Given the description of an element on the screen output the (x, y) to click on. 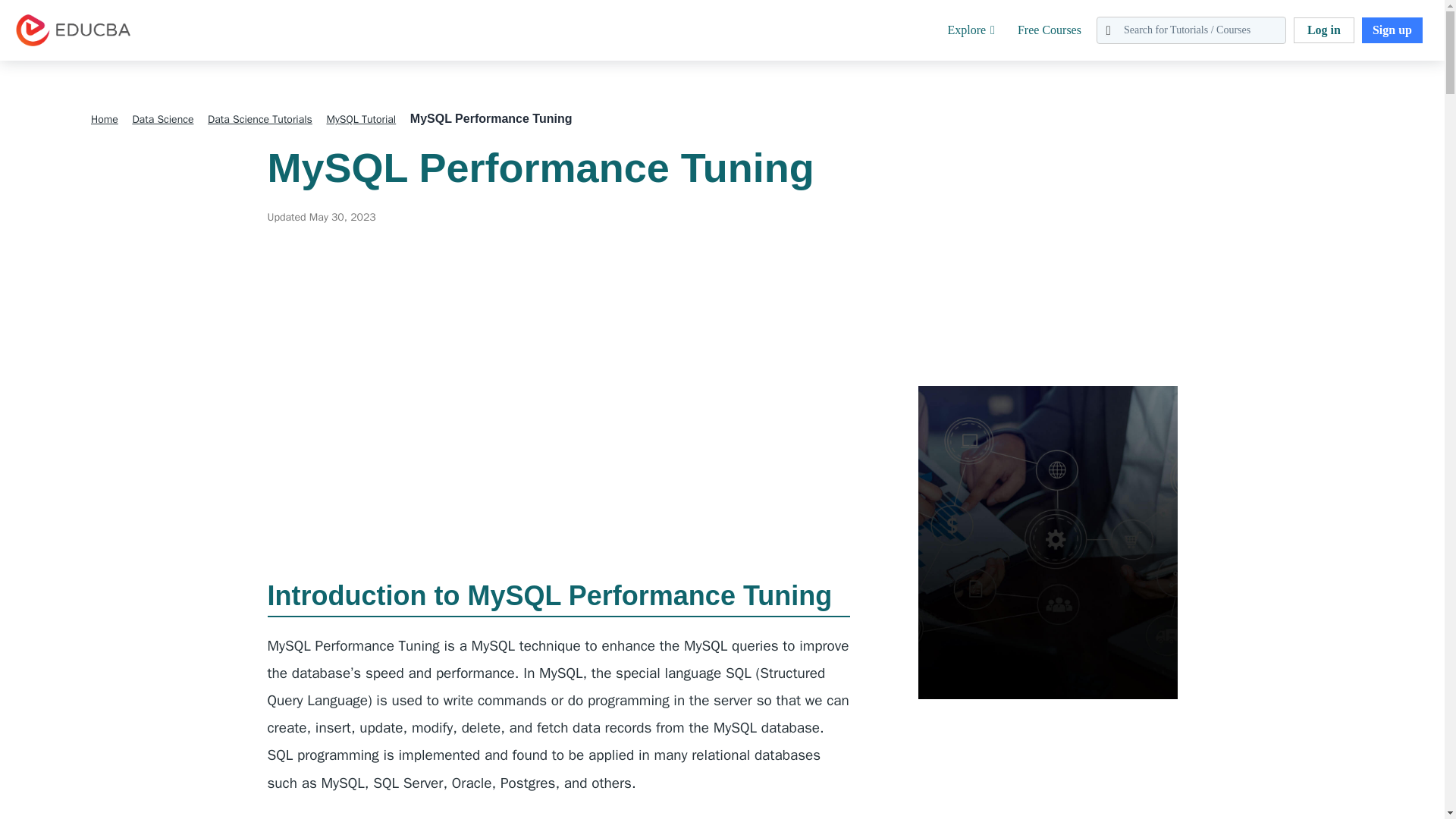
Home (103, 119)
Data Science (162, 119)
Free Courses (1049, 30)
Sign up (1391, 30)
Explore (971, 30)
Log in (1324, 30)
MySQL Tutorial (361, 119)
Search (43, 19)
EDUCBA (37, 54)
Data Science Tutorials (260, 119)
